Given the description of an element on the screen output the (x, y) to click on. 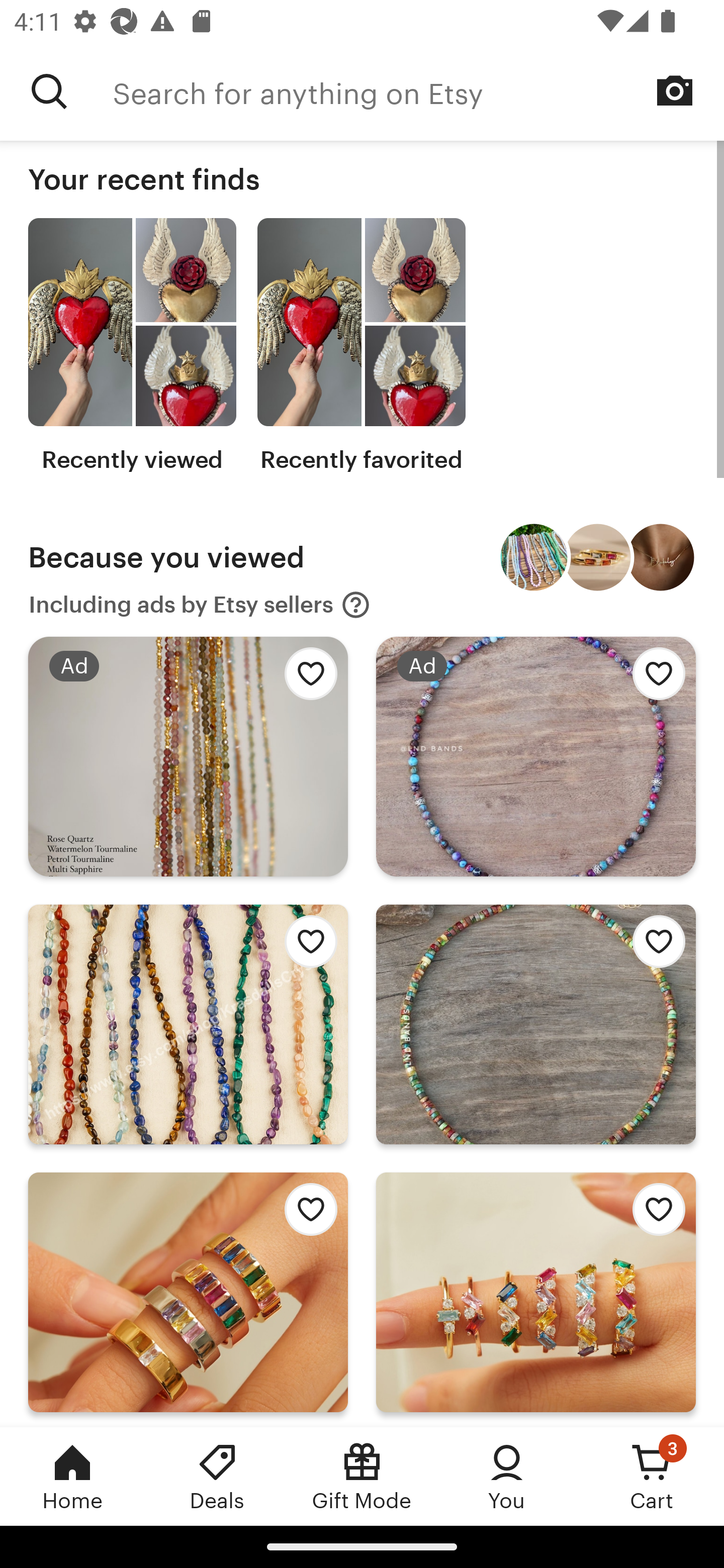
Search for anything on Etsy (49, 91)
Search by image (674, 90)
Search for anything on Etsy (418, 91)
Recently viewed (132, 345)
Recently favorited (361, 345)
Including ads by Etsy sellers (199, 604)
Deals (216, 1475)
Gift Mode (361, 1475)
You (506, 1475)
Cart, 3 new notifications Cart (651, 1475)
